Given the description of an element on the screen output the (x, y) to click on. 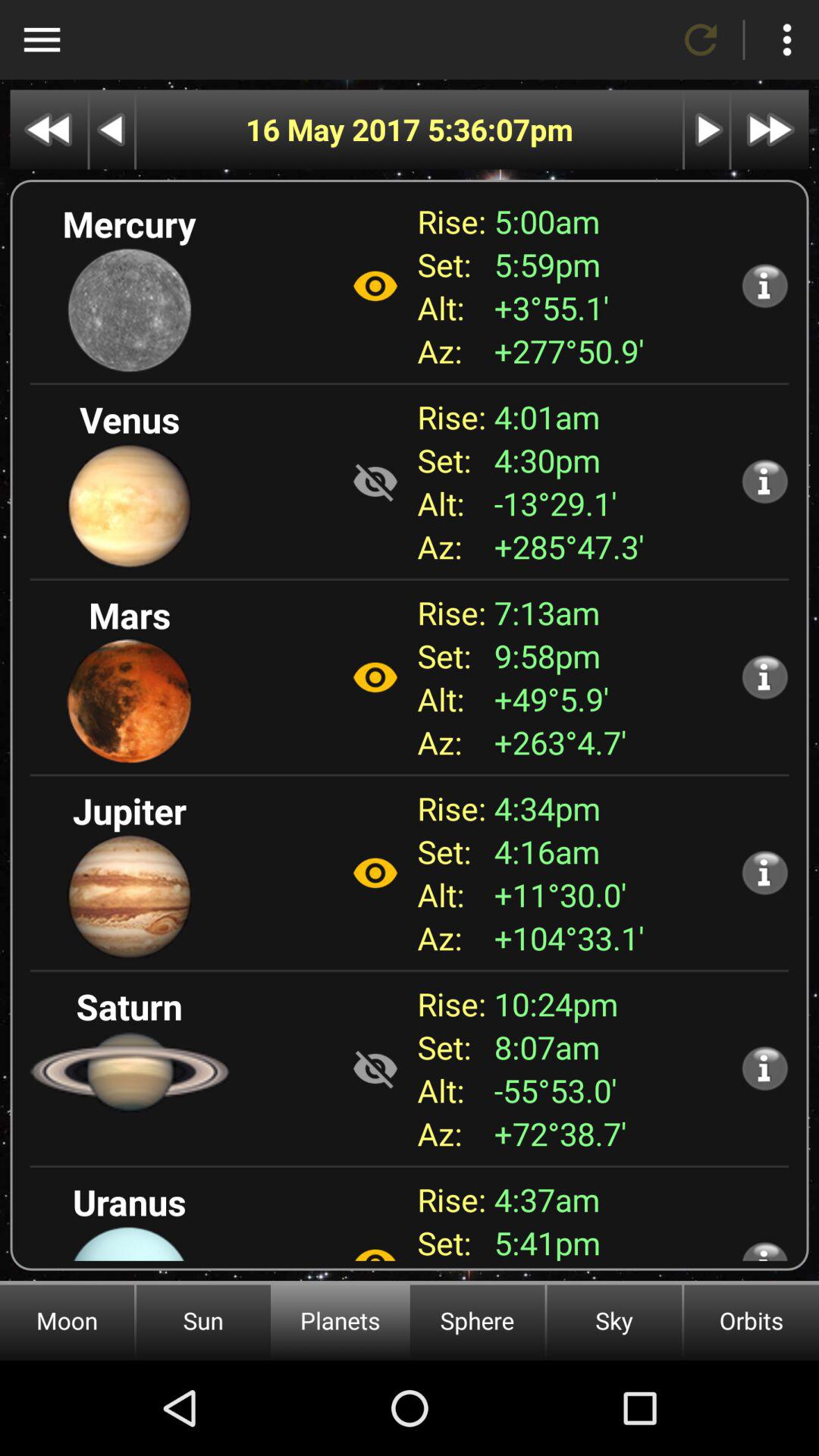
show other options (41, 39)
